Given the description of an element on the screen output the (x, y) to click on. 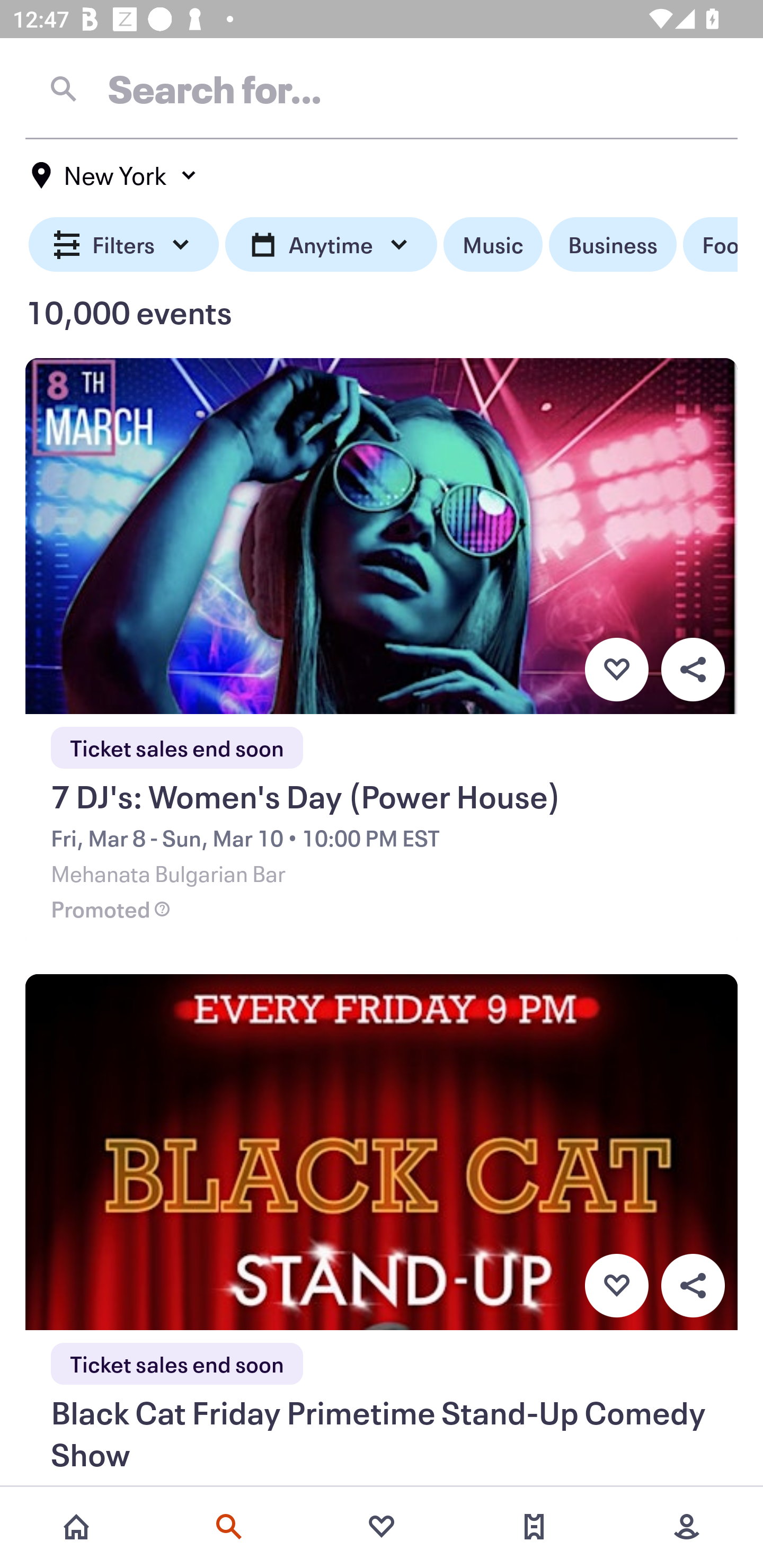
Search for… (381, 88)
New York (114, 175)
Filters (123, 244)
Anytime (331, 244)
Music (492, 244)
Business (612, 244)
Favorite button (616, 669)
Overflow menu button (692, 669)
Favorite button (616, 1285)
Overflow menu button (692, 1285)
Home (76, 1526)
Search events (228, 1526)
Favorites (381, 1526)
Tickets (533, 1526)
More (686, 1526)
